Given the description of an element on the screen output the (x, y) to click on. 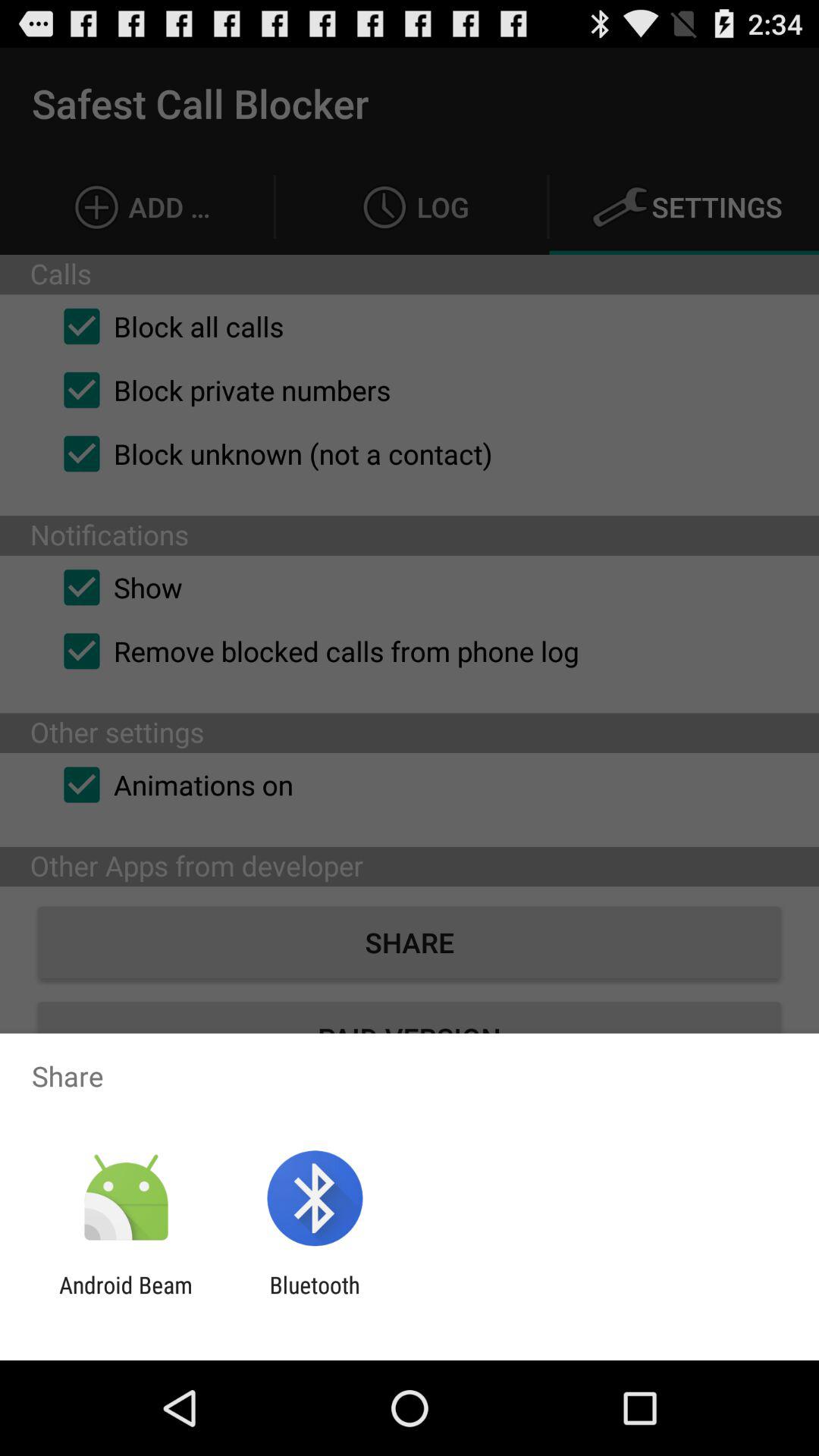
flip until the android beam icon (125, 1298)
